Given the description of an element on the screen output the (x, y) to click on. 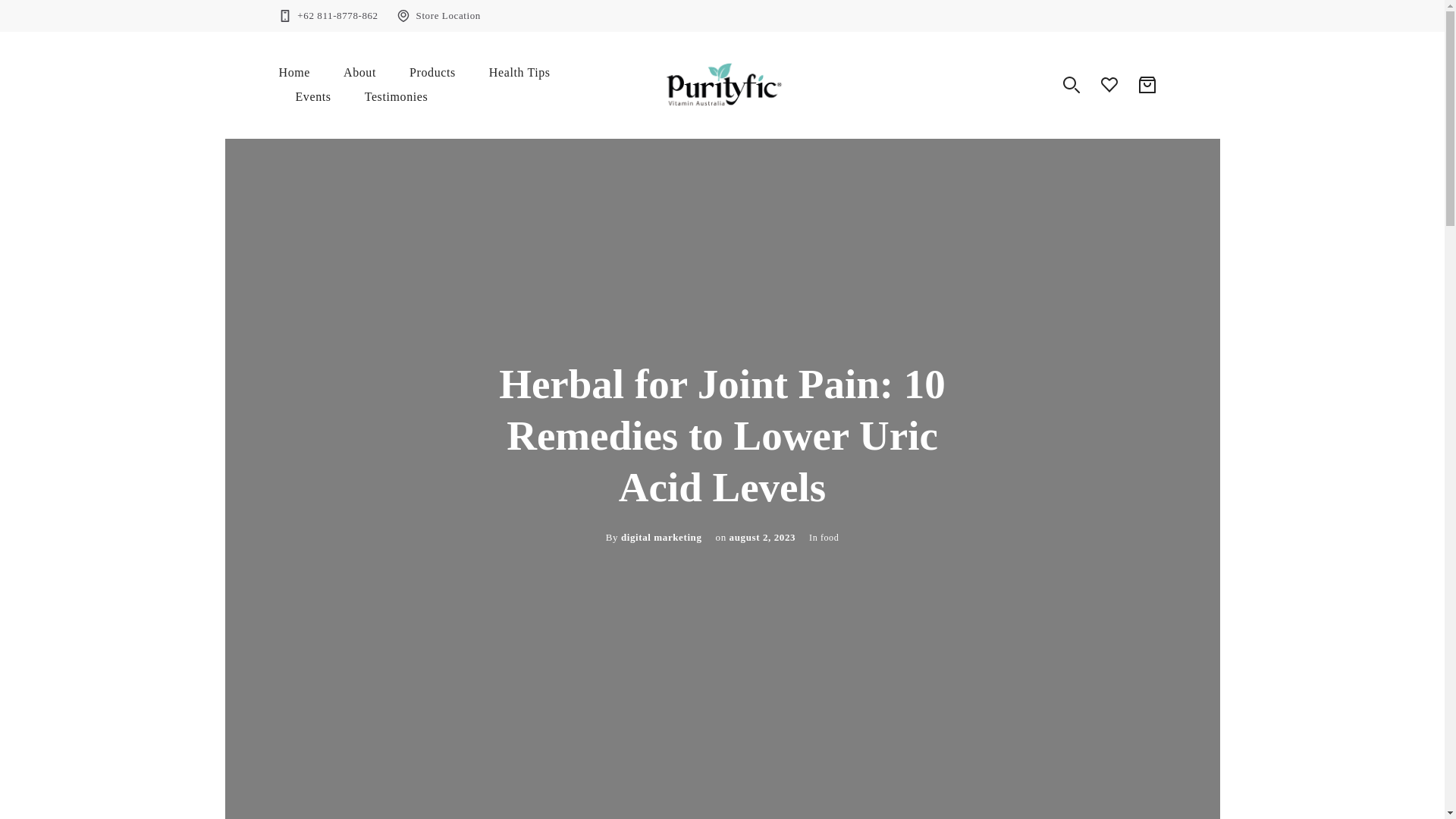
Products (432, 72)
Store Location (448, 15)
Skip to content (10, 7)
Health Tips (519, 72)
About (359, 72)
food (829, 537)
Events (313, 96)
Home (295, 72)
Testimonies (396, 96)
